Given the description of an element on the screen output the (x, y) to click on. 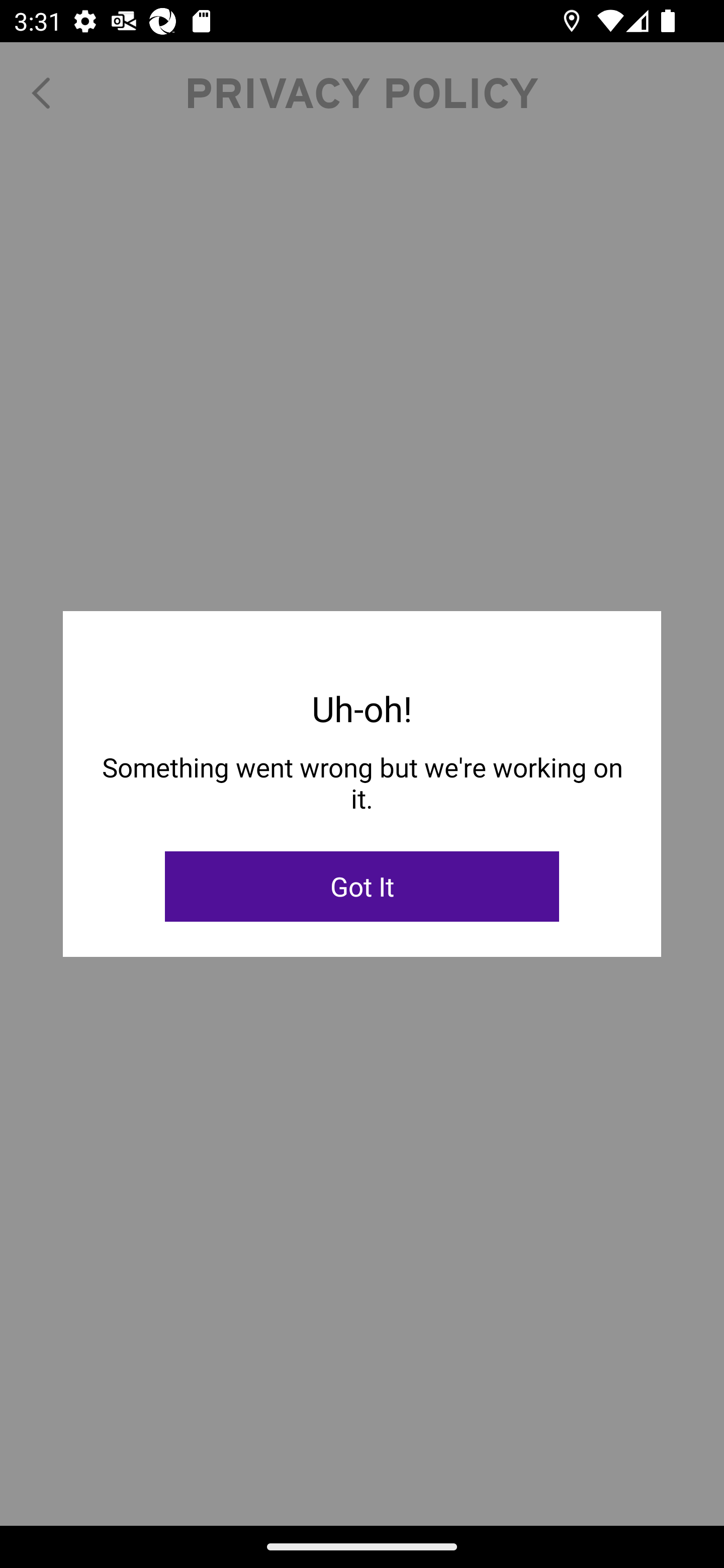
Got It (361, 886)
